Given the description of an element on the screen output the (x, y) to click on. 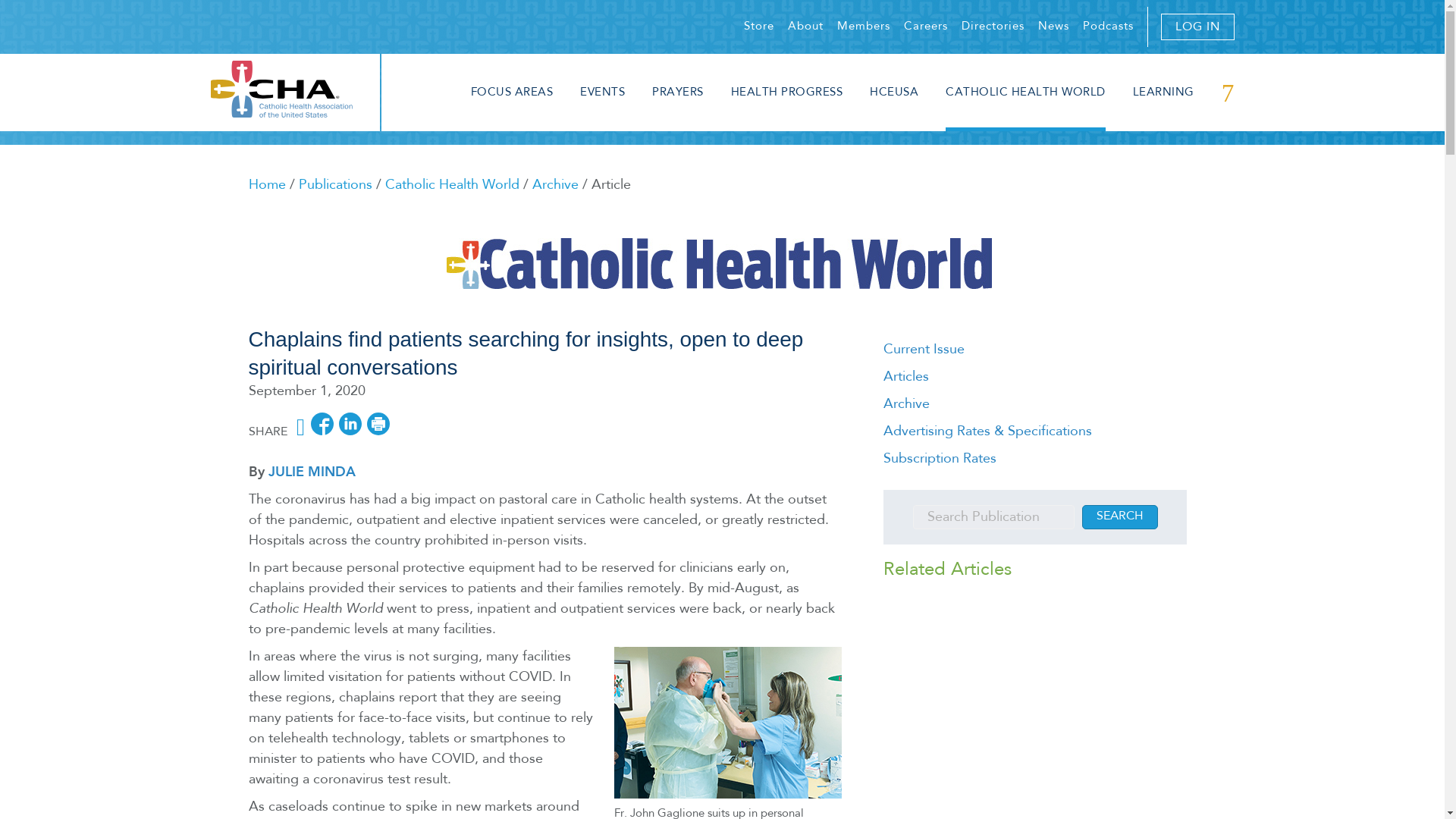
LOG IN (1196, 26)
News (1052, 26)
Directories (992, 26)
Podcasts (1108, 26)
About (804, 26)
FOCUS AREAS (511, 92)
Careers (925, 26)
Store (757, 26)
Members (863, 26)
